Given the description of an element on the screen output the (x, y) to click on. 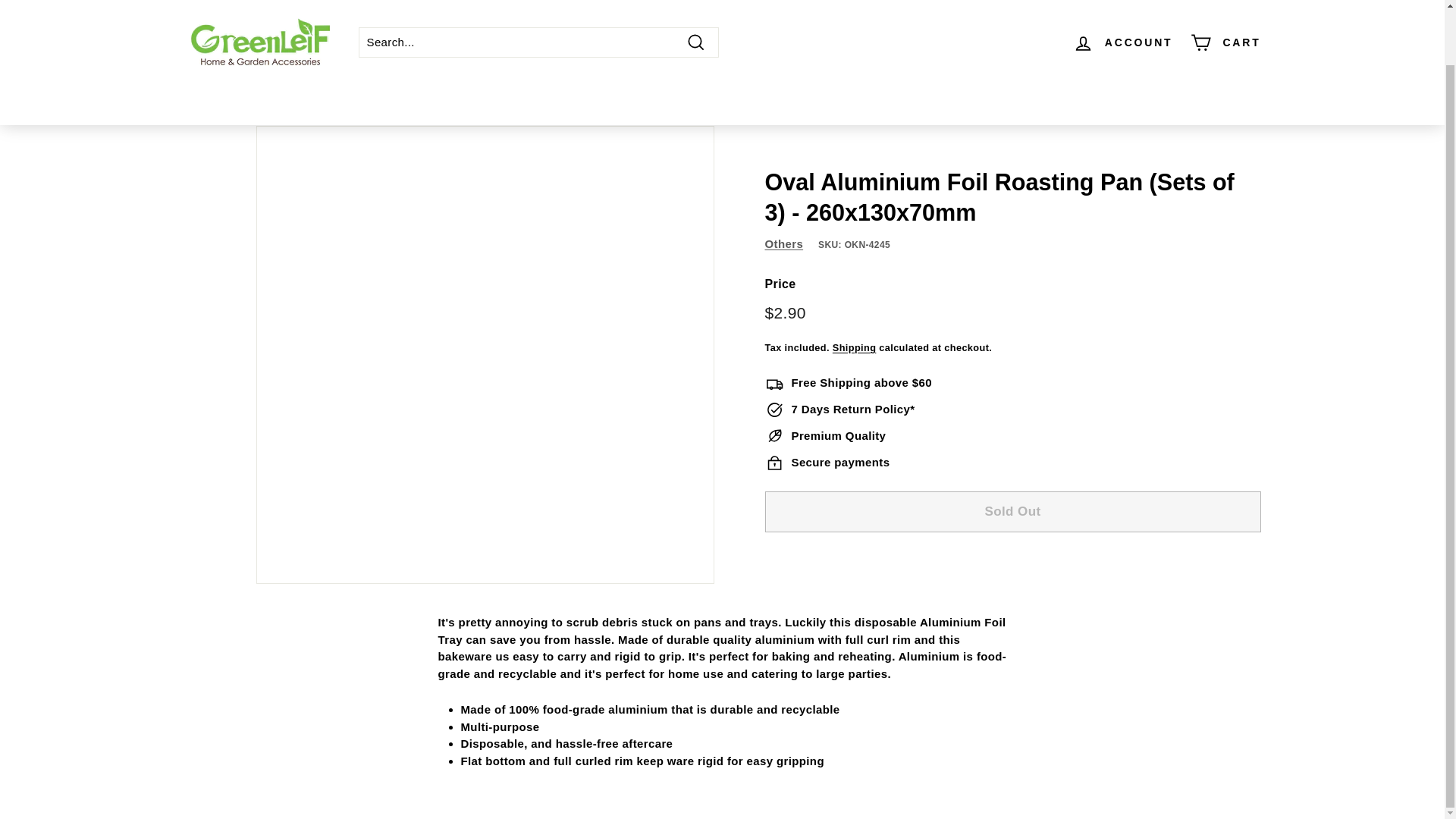
Others (783, 243)
ACCOUNT (1123, 13)
